Given the description of an element on the screen output the (x, y) to click on. 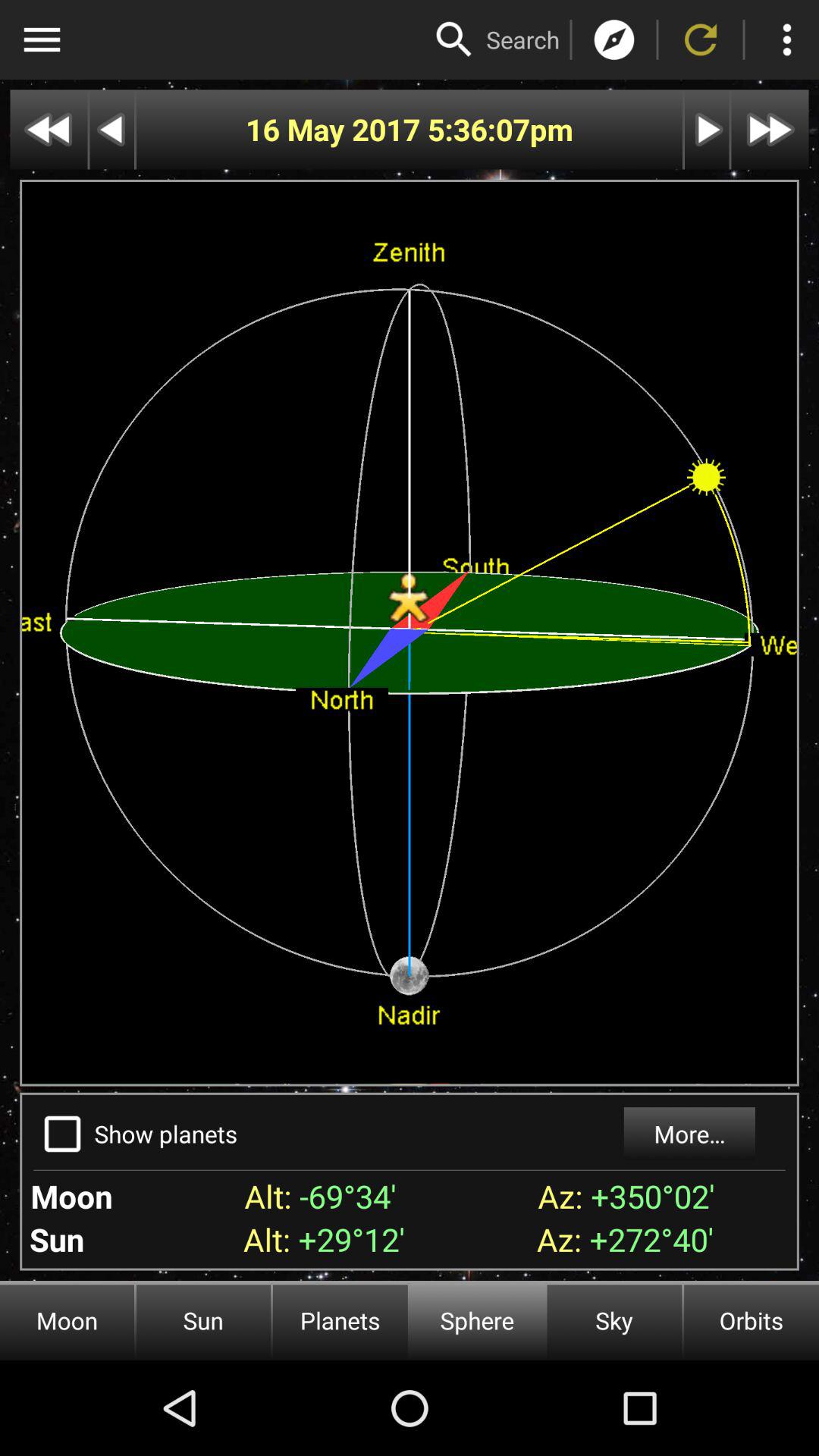
go to previous (111, 129)
